Given the description of an element on the screen output the (x, y) to click on. 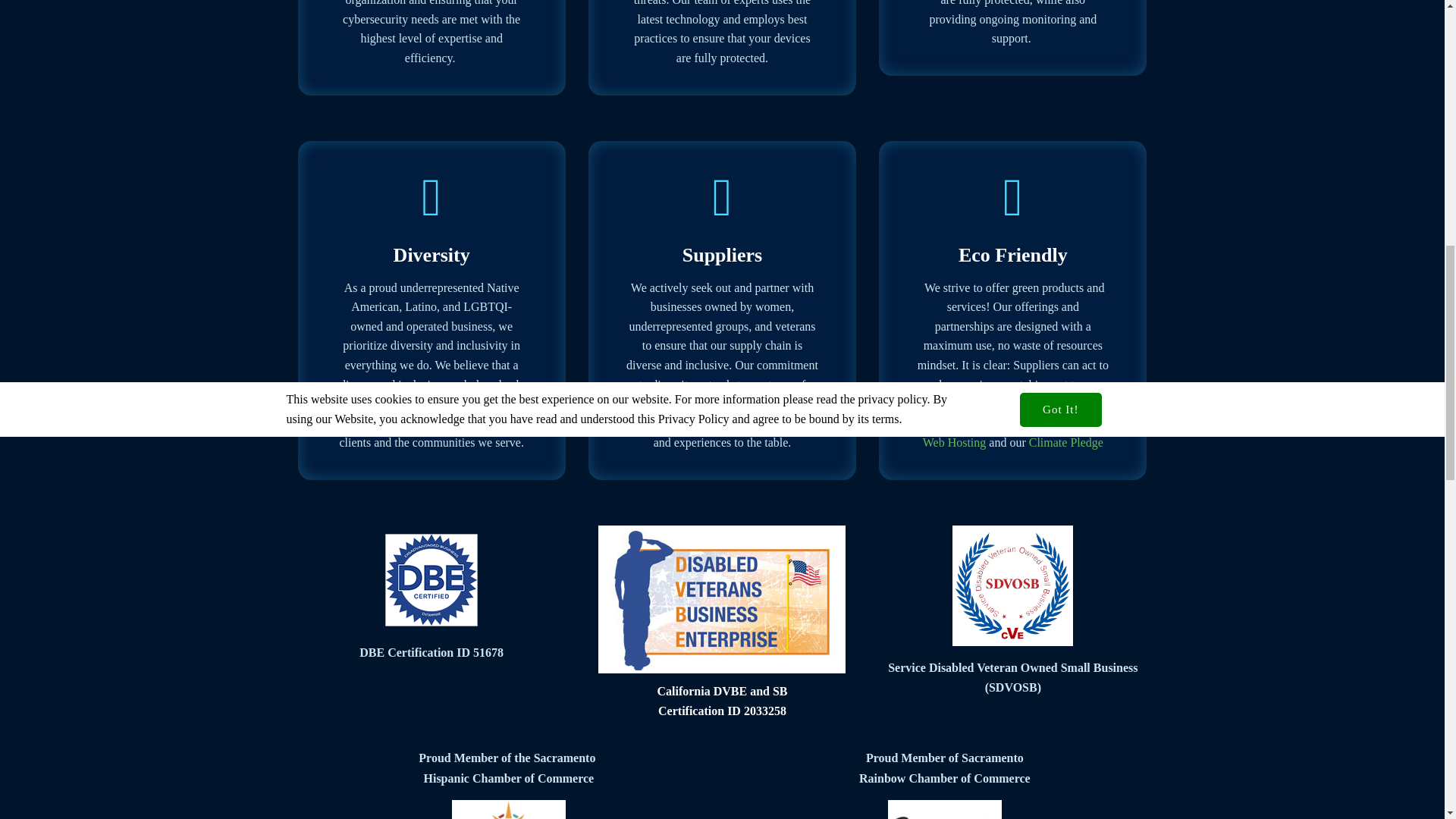
Climate Pledge (1066, 441)
SDVOSB-logo-color (1012, 585)
Hispanic Chamber of Commerce Logo (508, 809)
Green Geeks Web Hosting (1012, 432)
DBE-Certified (431, 579)
DVBE-Logo-Final (721, 599)
Sacramento Rainbow Chamber of Commerce (944, 809)
